Given the description of an element on the screen output the (x, y) to click on. 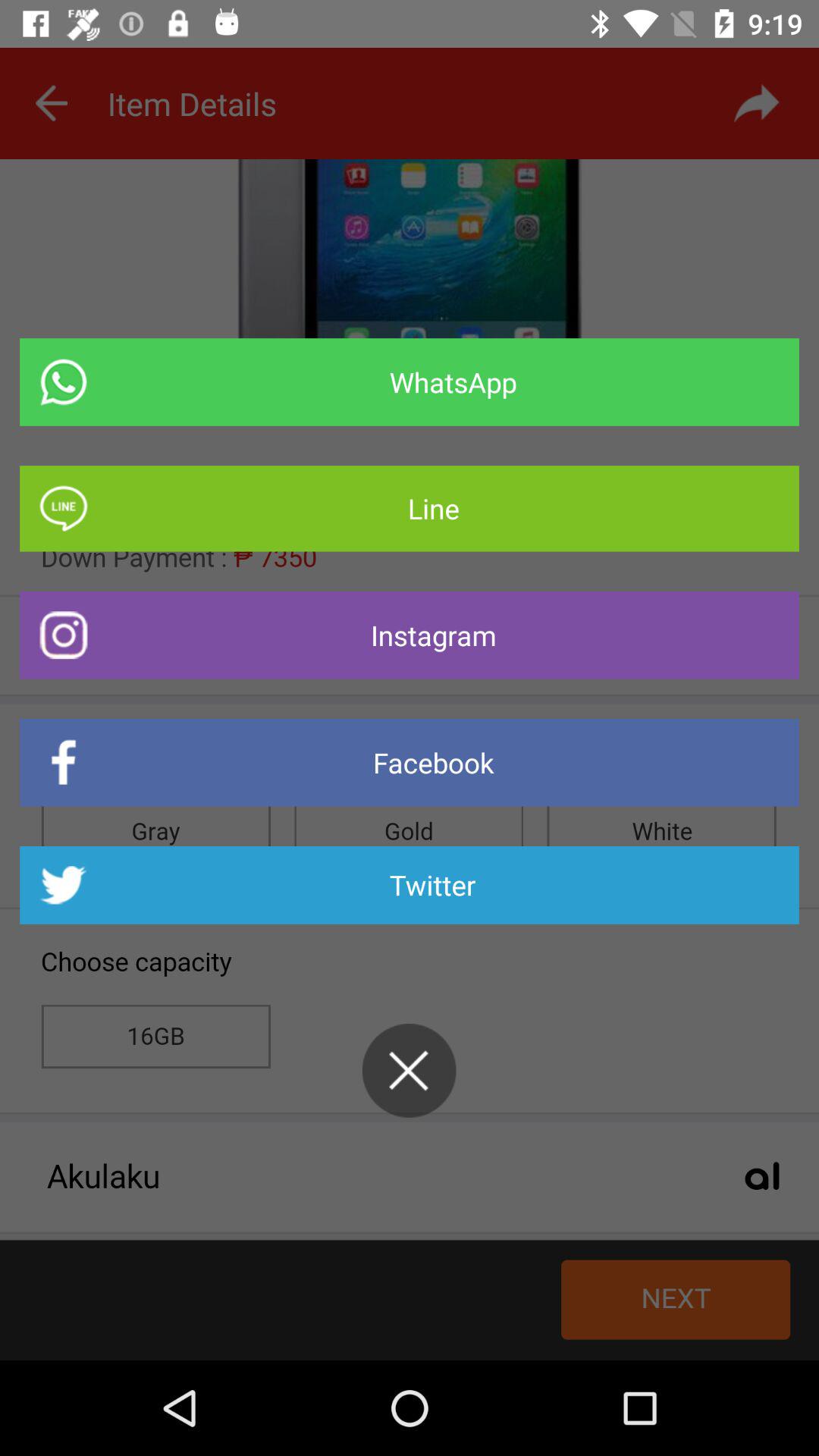
launch the twitter item (409, 885)
